Given the description of an element on the screen output the (x, y) to click on. 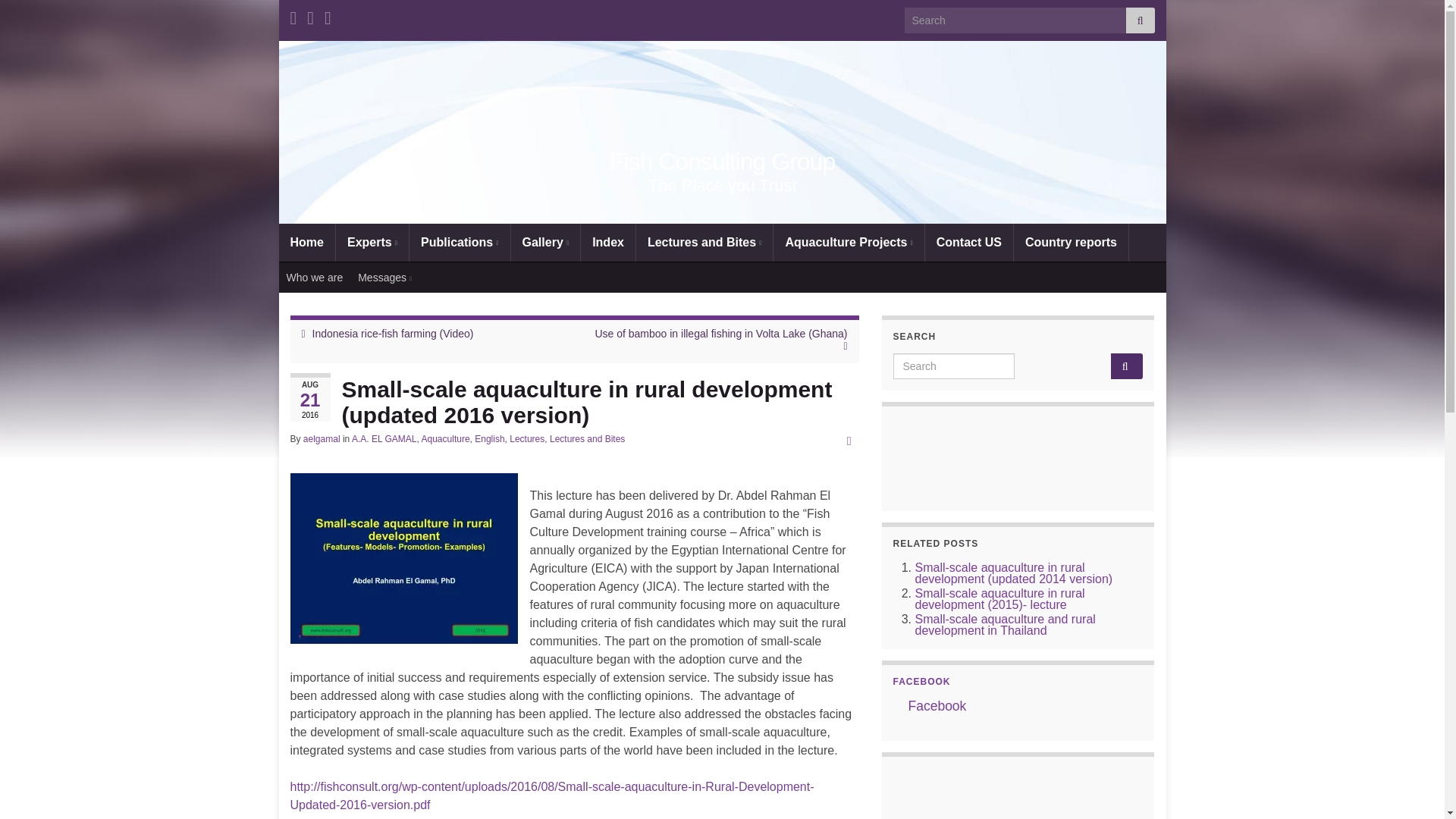
Go back to the front page (722, 161)
Fish Consulting Group (722, 161)
Who we are (314, 277)
Publications (460, 242)
Aquaculture Projects (848, 242)
Gallery (545, 242)
Index (607, 242)
Messages (384, 277)
